Given the description of an element on the screen output the (x, y) to click on. 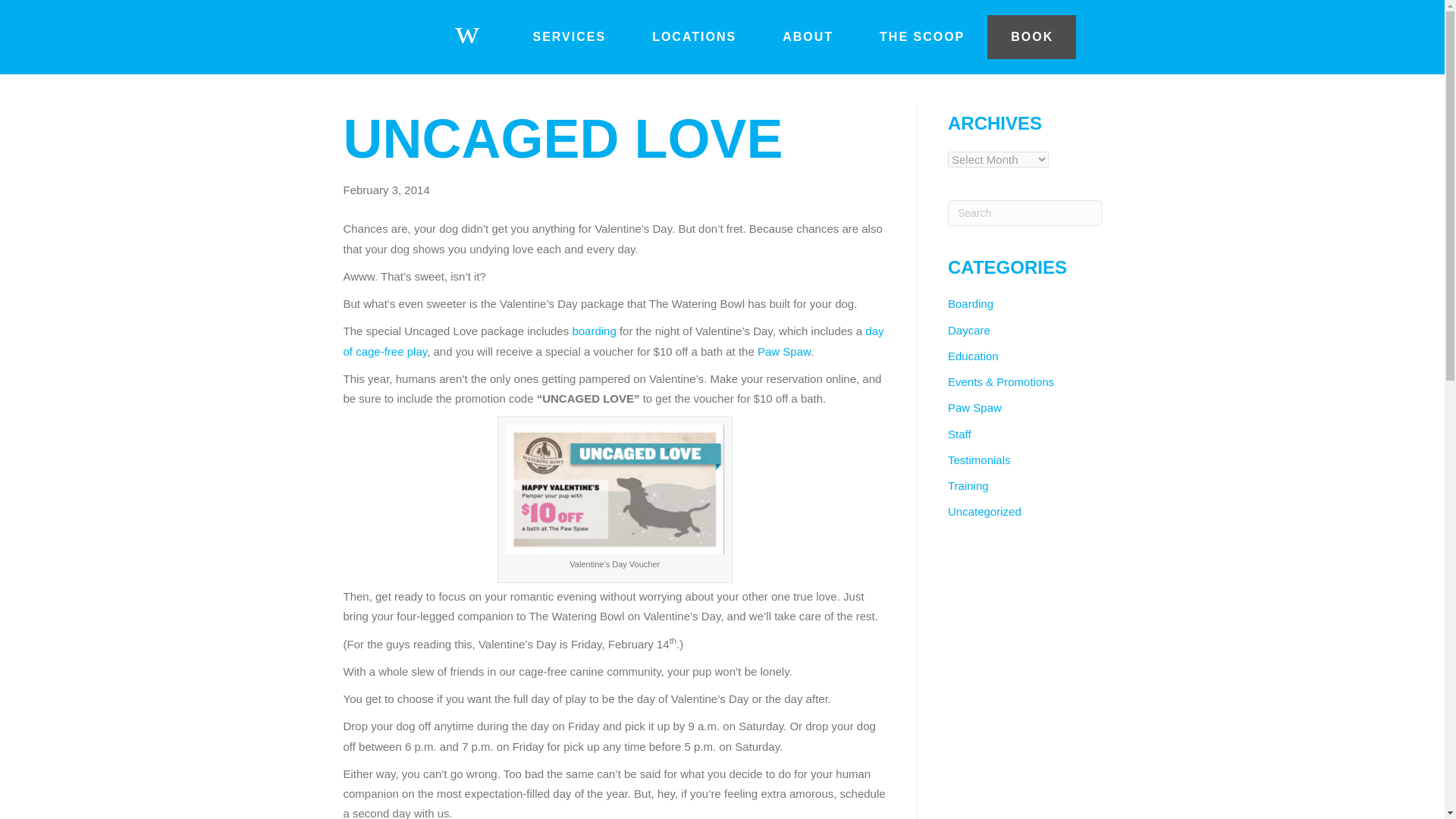
Paw Spaw (974, 407)
Staff (959, 433)
boarding (596, 330)
Testimonials (978, 459)
BOOK (1031, 36)
SERVICES (568, 36)
THE SCOOP (922, 36)
Paw Spaw (783, 350)
ABOUT (808, 36)
Training (967, 485)
